Given the description of an element on the screen output the (x, y) to click on. 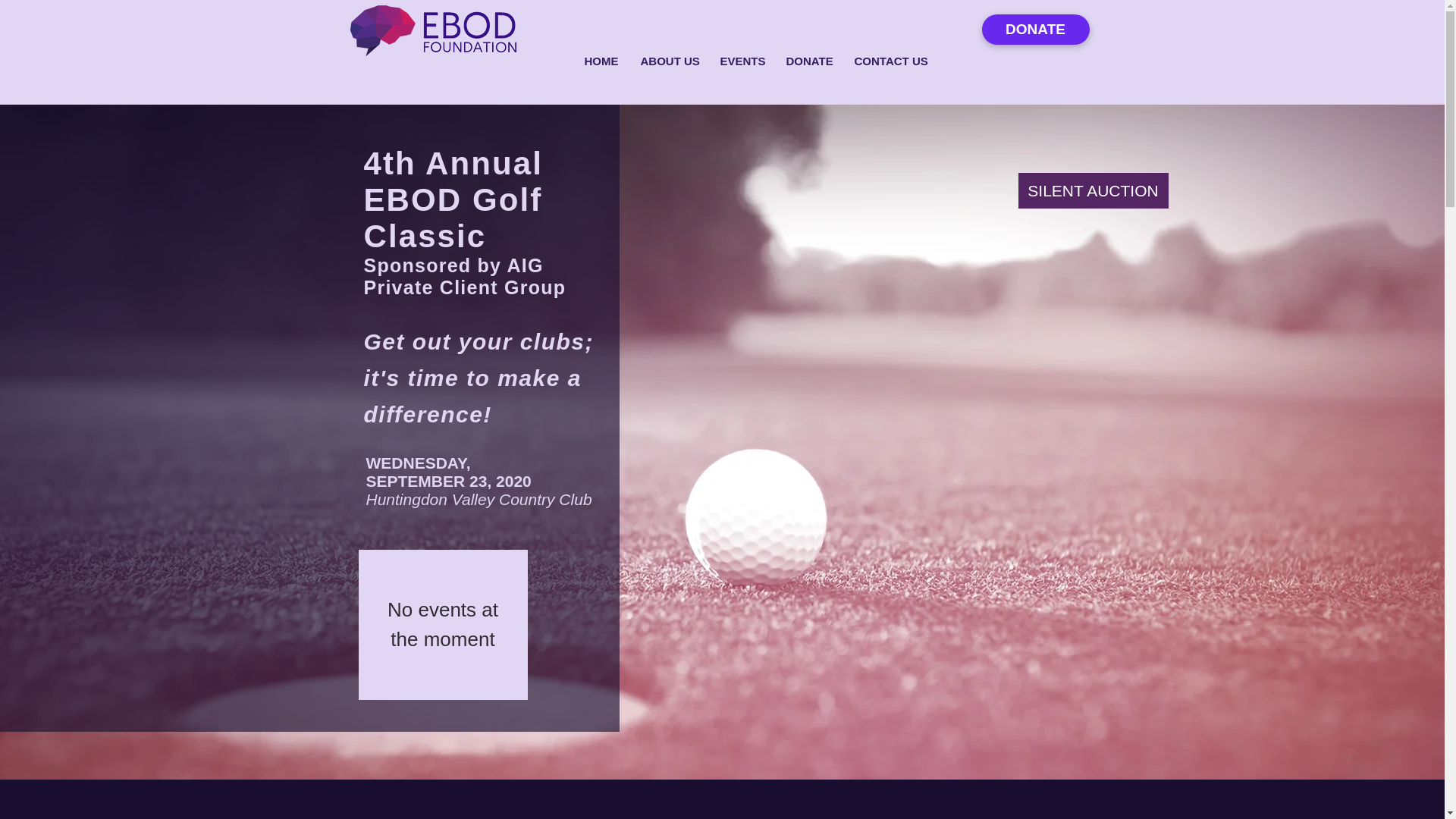
DONATE (808, 60)
EVENTS (740, 60)
HOME (600, 60)
ABOUT US (668, 60)
DONATE (1035, 29)
SILENT AUCTION (1092, 190)
CONTACT US (889, 60)
